Given the description of an element on the screen output the (x, y) to click on. 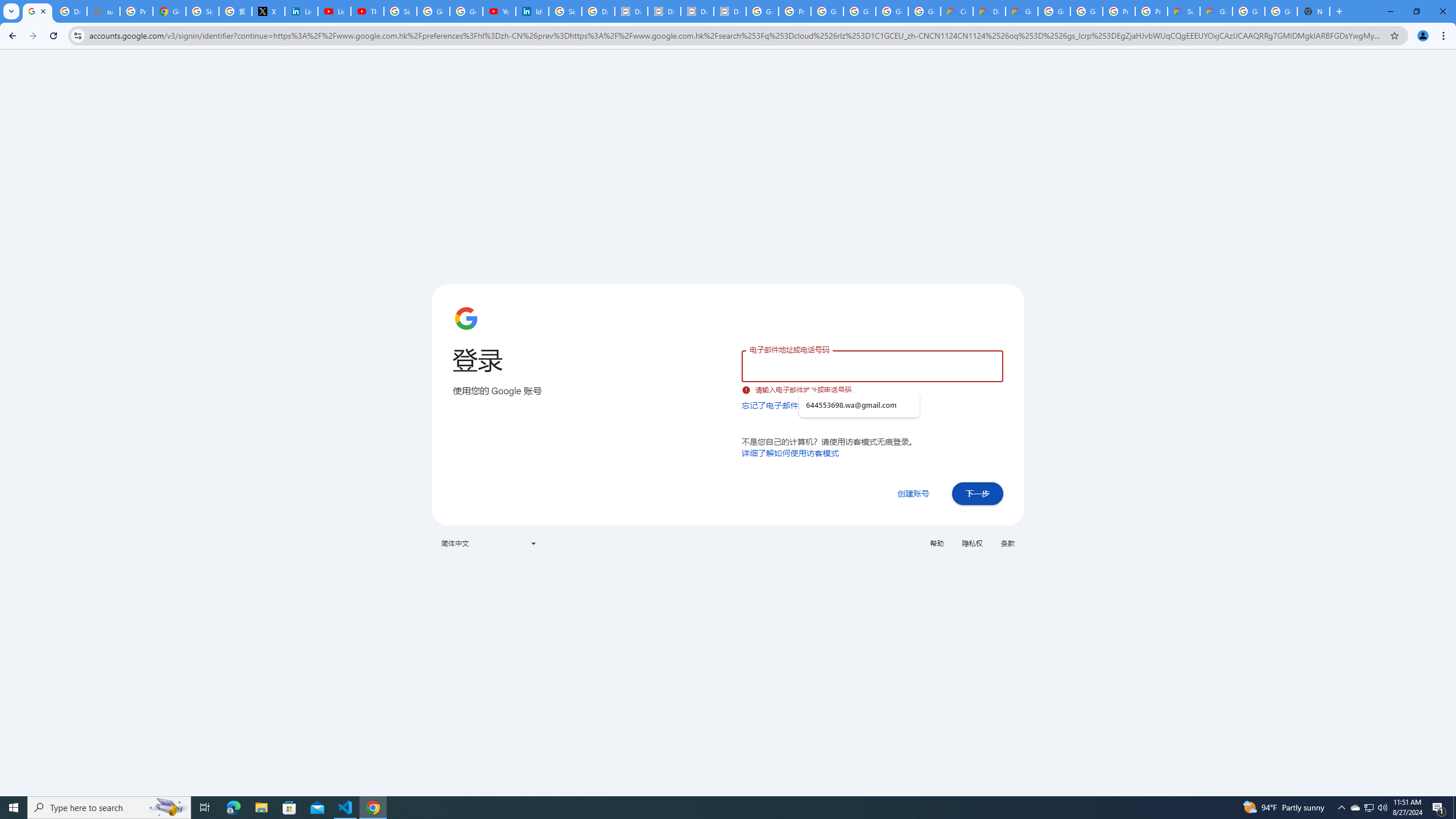
LinkedIn - YouTube (334, 11)
Customer Care | Google Cloud (957, 11)
LinkedIn Privacy Policy (301, 11)
Data Privacy Framework (631, 11)
New Tab (1313, 11)
